Given the description of an element on the screen output the (x, y) to click on. 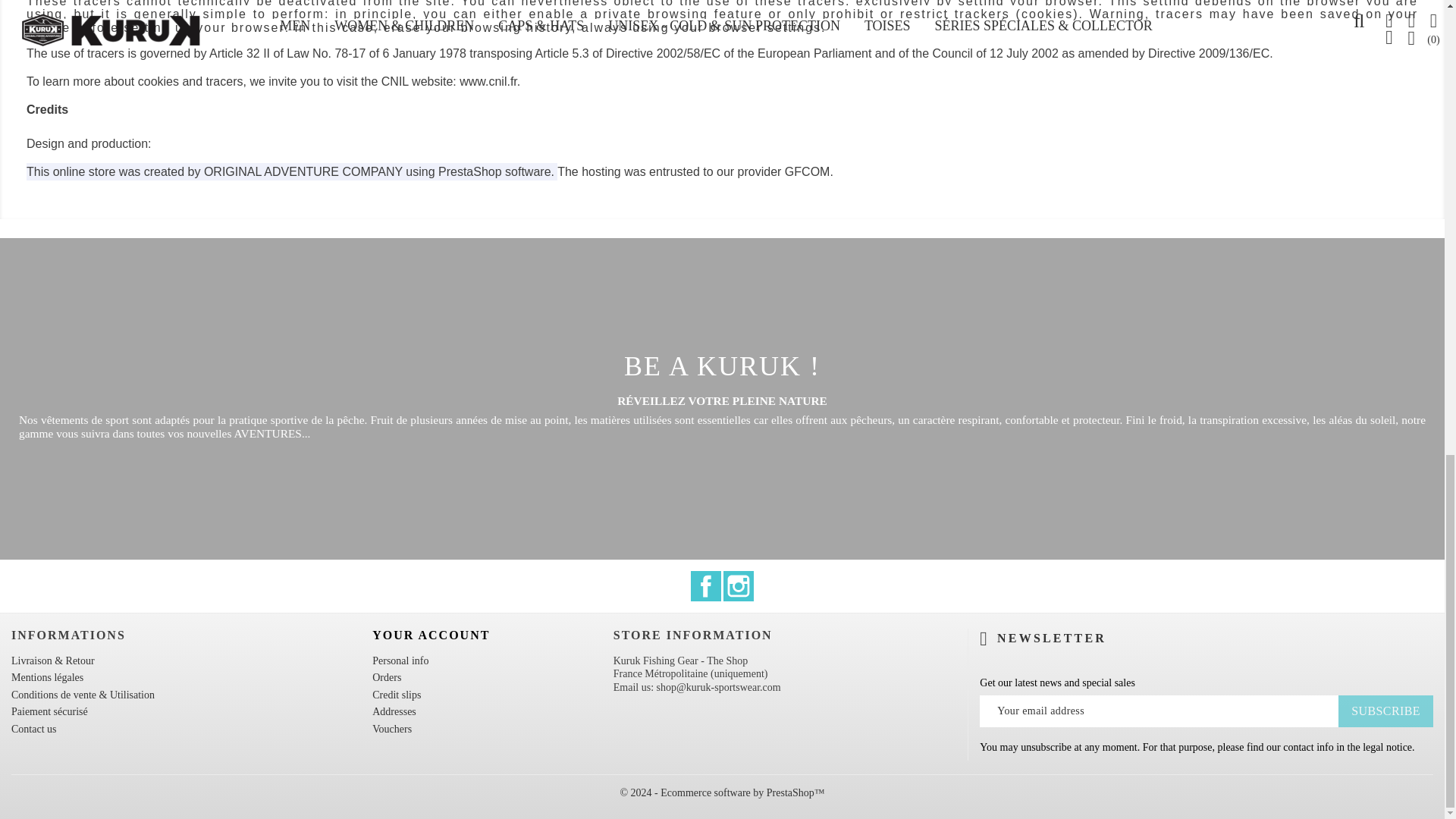
Personal info (400, 660)
Vouchers (392, 728)
Use our form to contact us (33, 728)
Subscribe (1385, 711)
Nos conditions d'utilisation (82, 695)
Nos conditions de livraison (52, 660)
Orders (386, 677)
Credit slips (396, 695)
Addresses (394, 711)
